Given the description of an element on the screen output the (x, y) to click on. 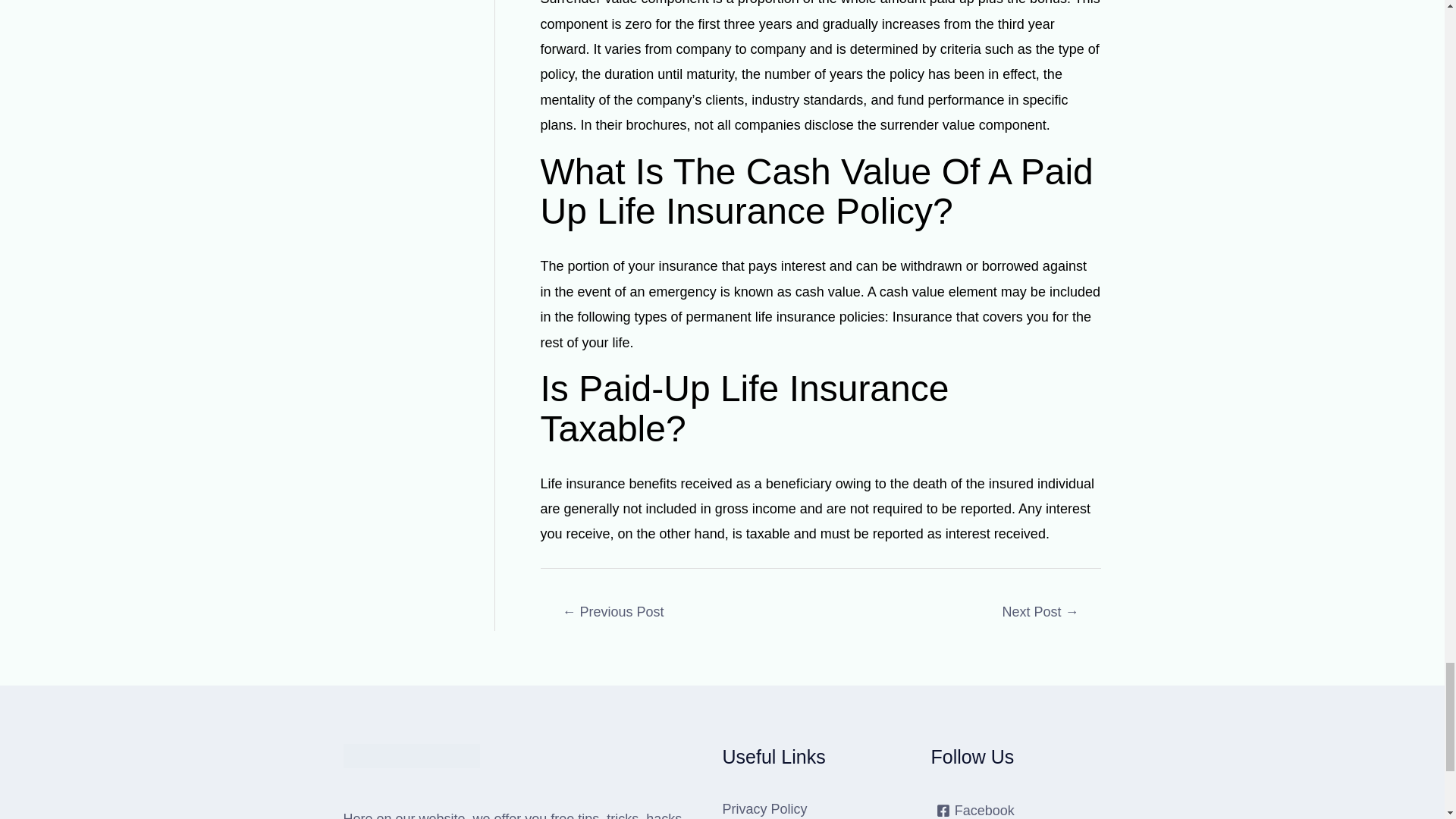
Privacy Policy (764, 808)
Does Health Insurance Cover ATV Accidents? (1040, 613)
Facebook (975, 810)
Does Insurance Cover Proton Therapy? (612, 613)
